Given the description of an element on the screen output the (x, y) to click on. 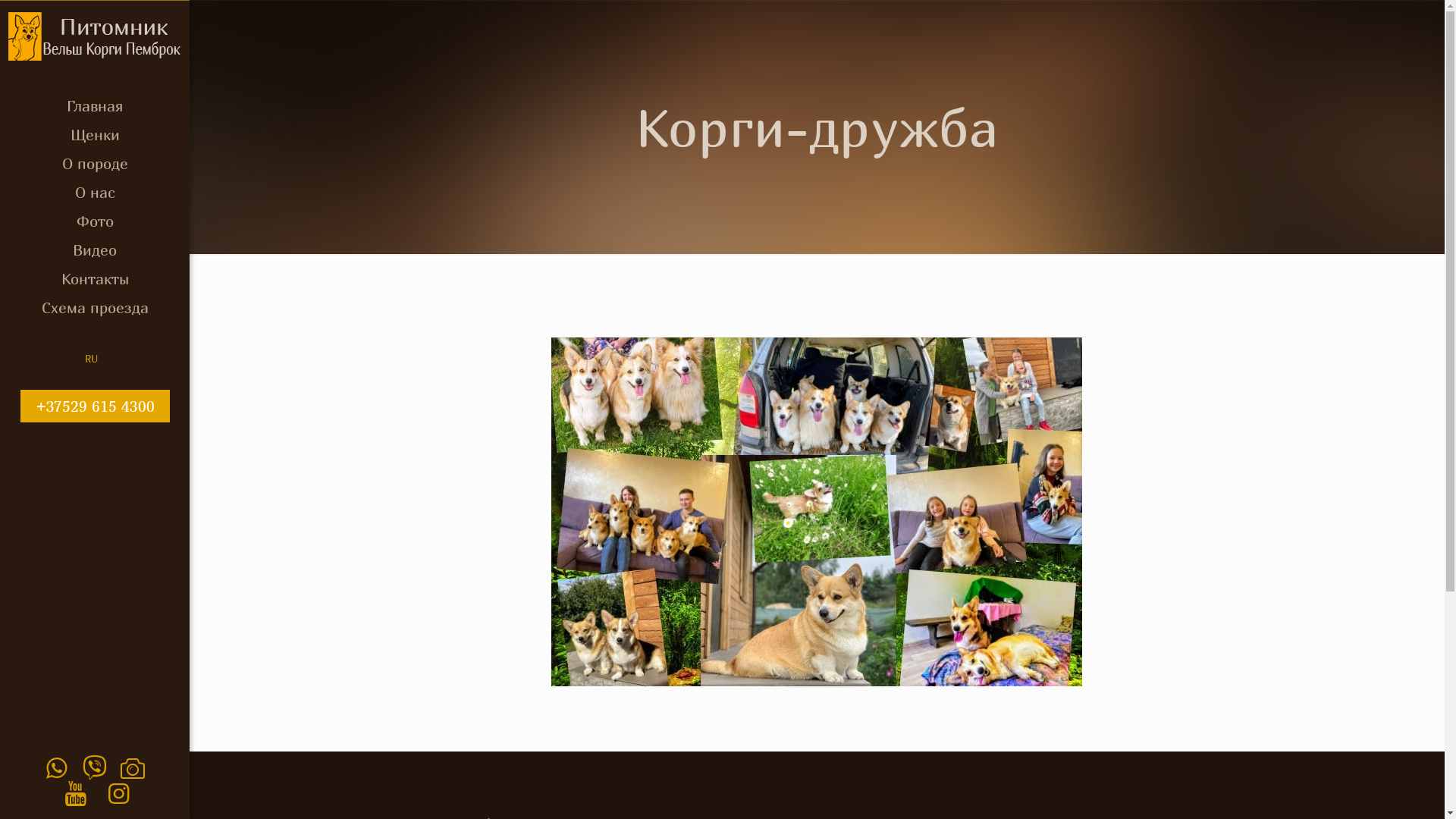
Google Photo Element type: hover (133, 767)
WhatsApp Element type: hover (56, 767)
+37529 615 4300 Element type: text (94, 405)
Viber Element type: hover (94, 767)
RU Element type: text (90, 358)
Instagram Element type: hover (118, 792)
YouTube Element type: hover (75, 792)
